Given the description of an element on the screen output the (x, y) to click on. 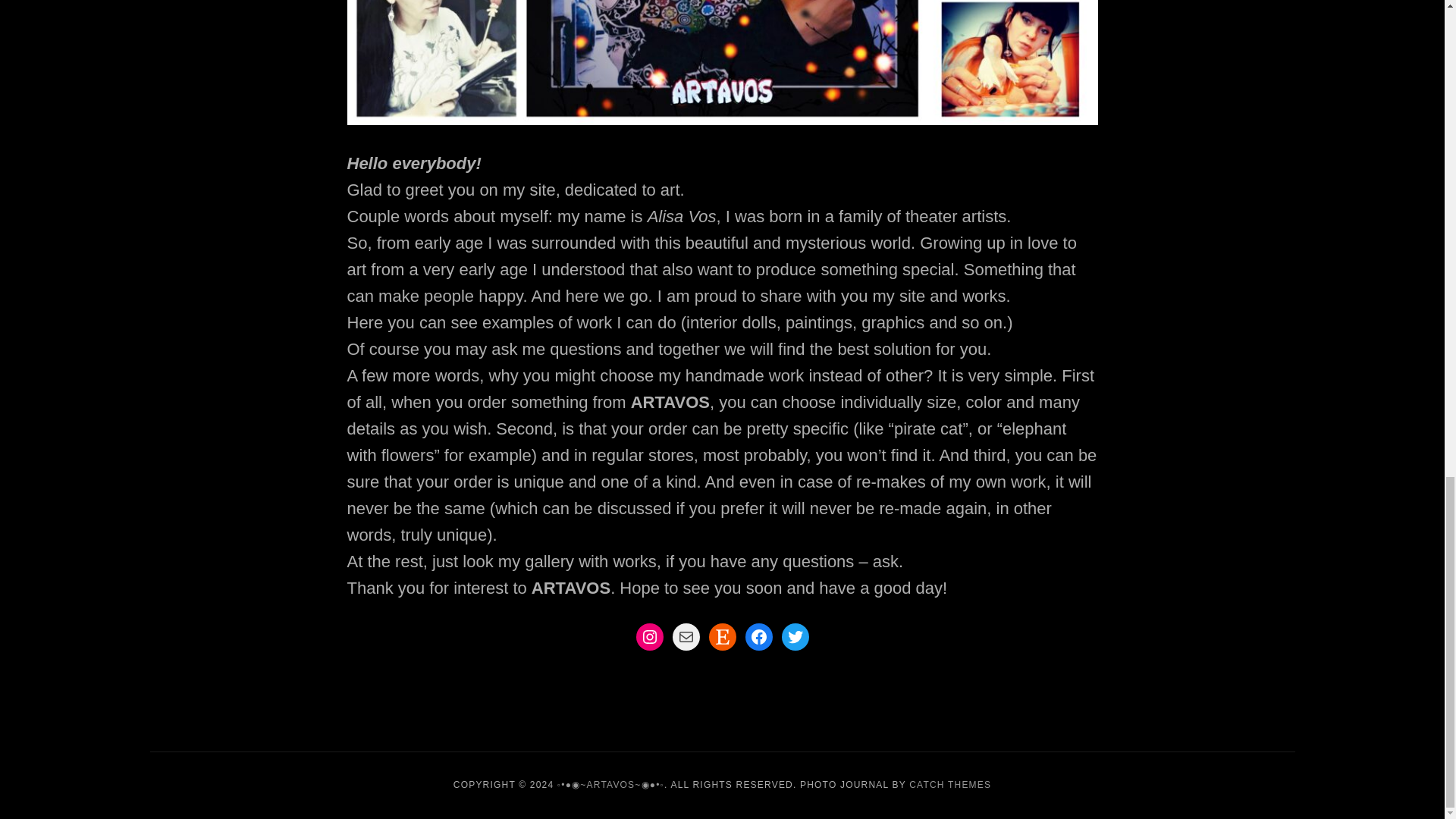
Mail (684, 636)
Instagram (648, 636)
CATCH THEMES (949, 784)
Facebook (757, 636)
Twitter (794, 636)
Etsy (721, 636)
